Given the description of an element on the screen output the (x, y) to click on. 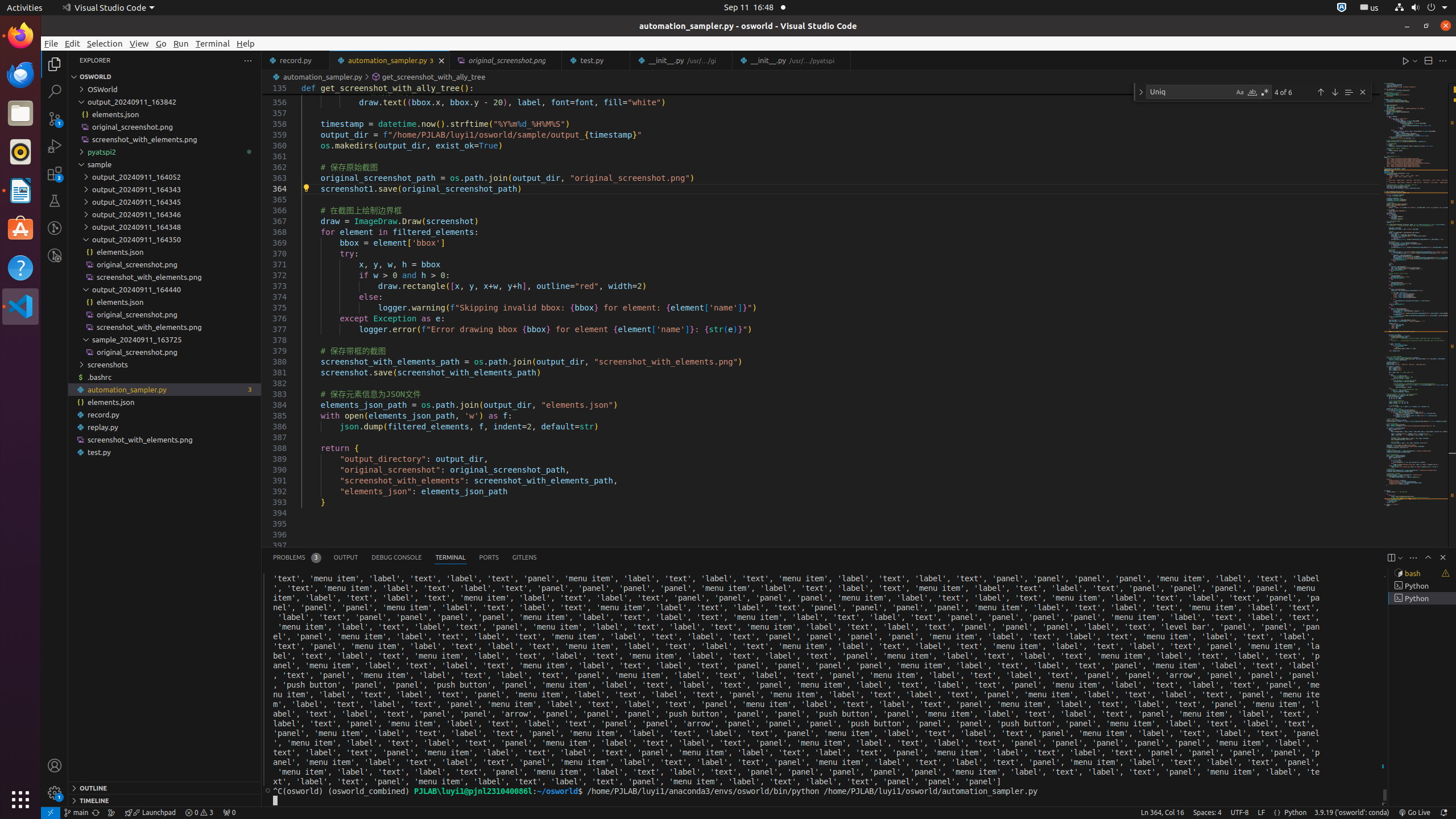
Python Element type: push-button (1295, 812)
Match Whole Word (Alt+W) Element type: check-box (1252, 91)
output_20240911_164343 Element type: tree-item (164, 189)
Maximize Panel Size Element type: check-box (1427, 557)
